Given the description of an element on the screen output the (x, y) to click on. 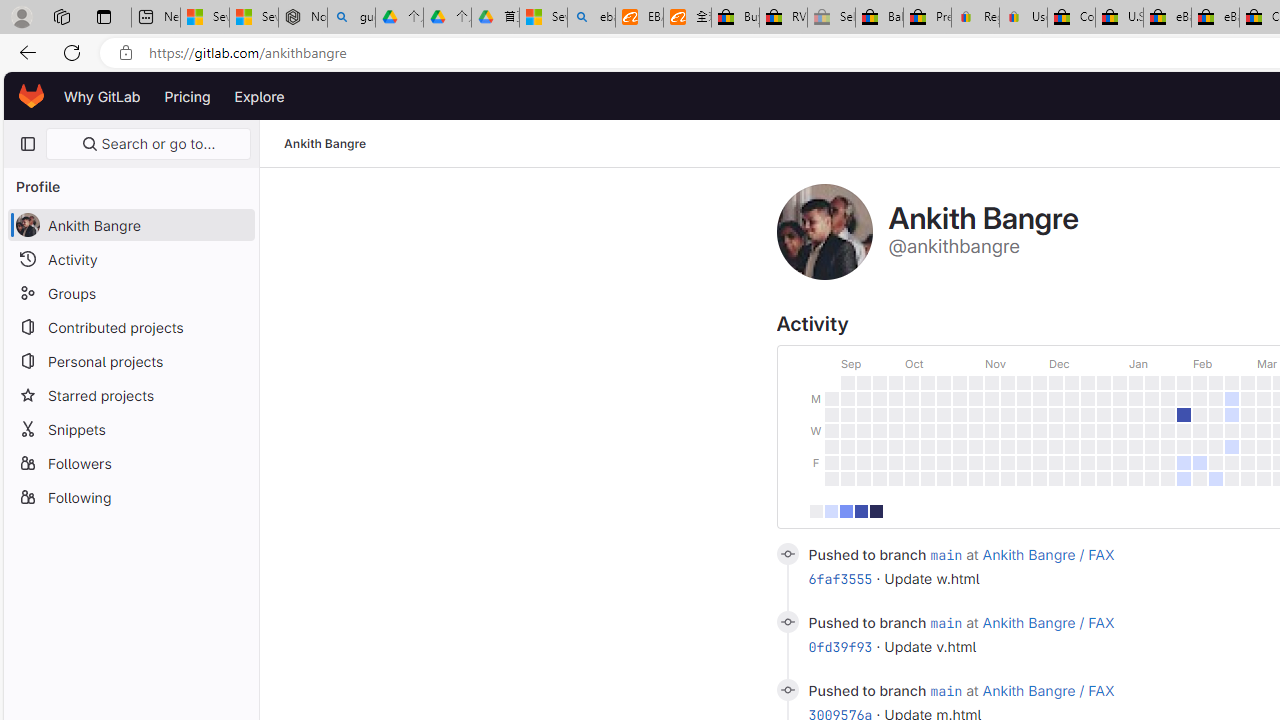
Ankith Bangre / FAX (1047, 690)
Personal projects (130, 360)
Explore (259, 95)
No contributions (815, 510)
